Given the description of an element on the screen output the (x, y) to click on. 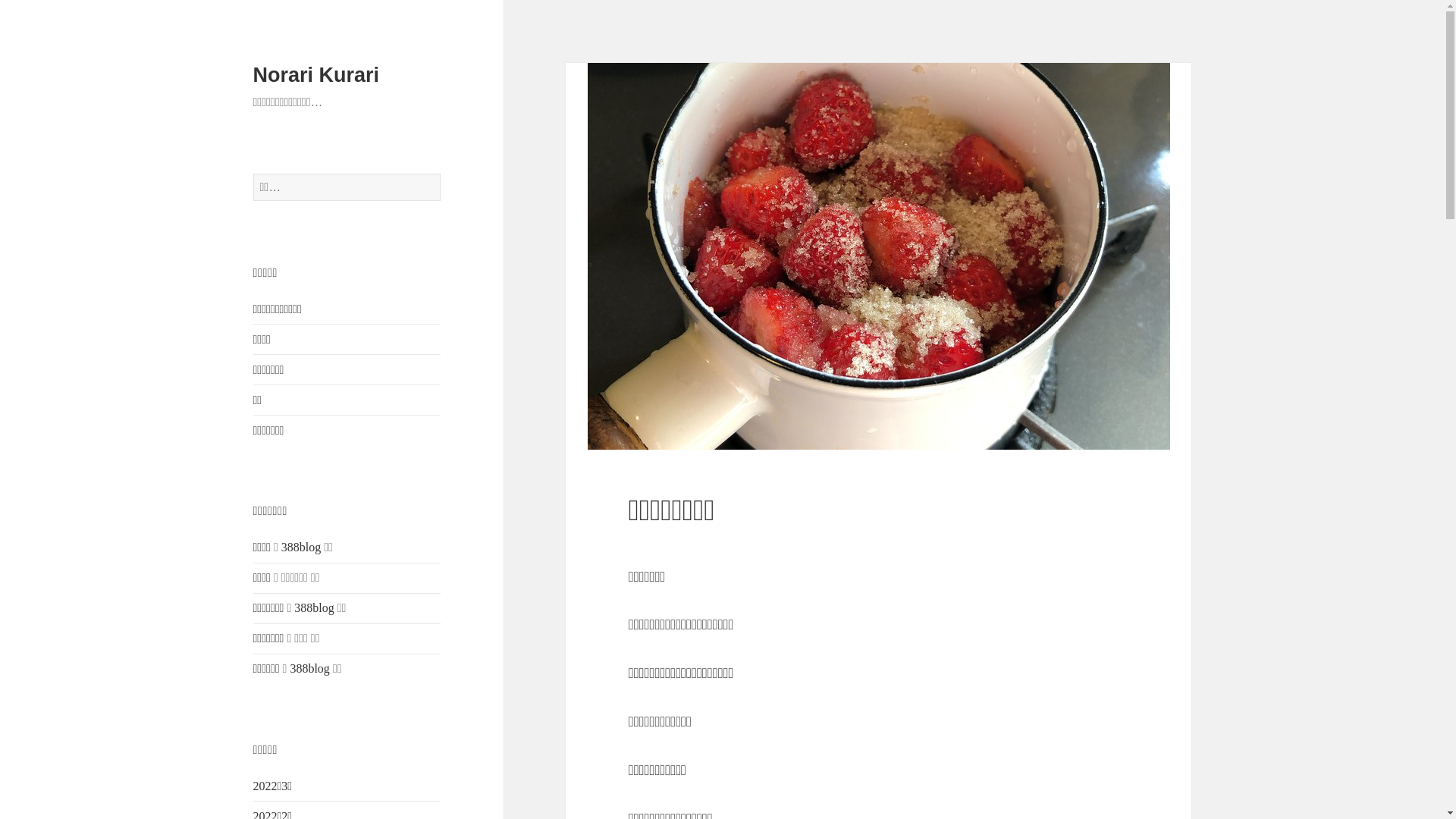
388blog Element type: text (309, 668)
388blog Element type: text (300, 546)
388blog Element type: text (313, 607)
Norari Kurari Element type: text (316, 74)
